Given the description of an element on the screen output the (x, y) to click on. 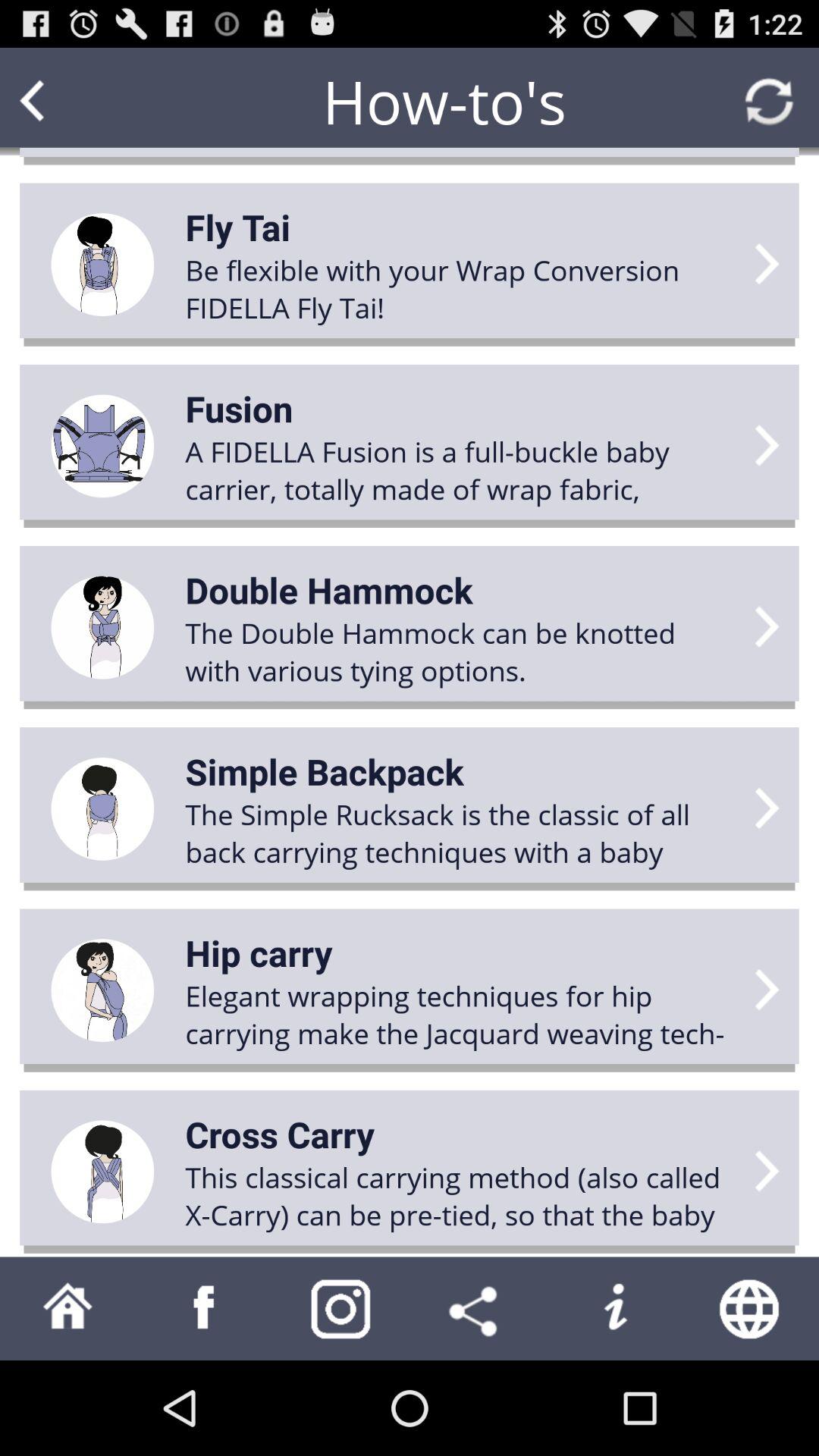
share (477, 1308)
